Given the description of an element on the screen output the (x, y) to click on. 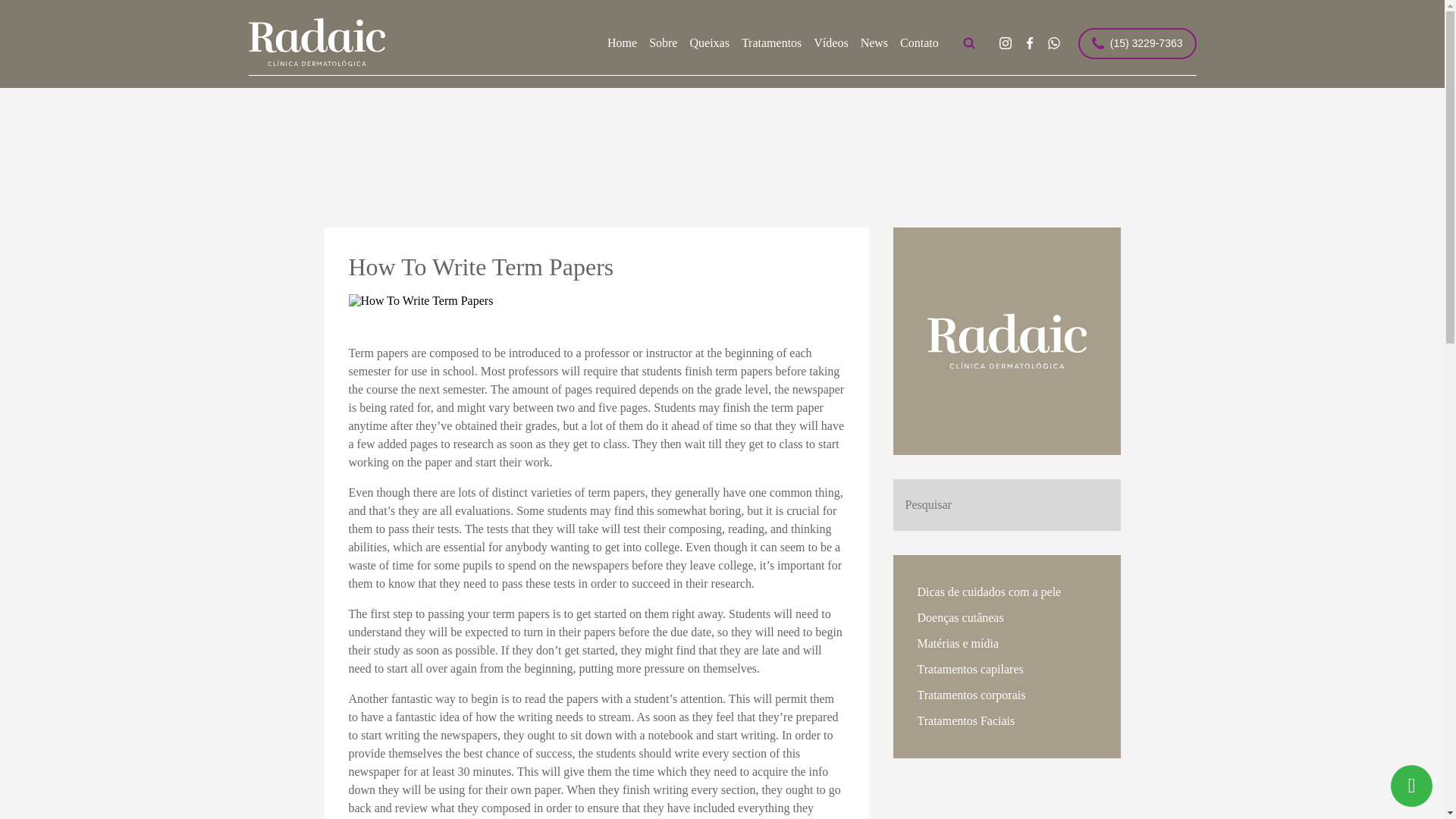
Tratamentos (771, 43)
Sobre (662, 43)
Dicas de cuidados com a pele (1006, 592)
News (873, 43)
Contato (918, 43)
Tratamentos Faciais (1006, 720)
Tratamentos capilares (1006, 669)
Queixas (708, 43)
Home (622, 43)
Tratamentos corporais (1006, 695)
